Given the description of an element on the screen output the (x, y) to click on. 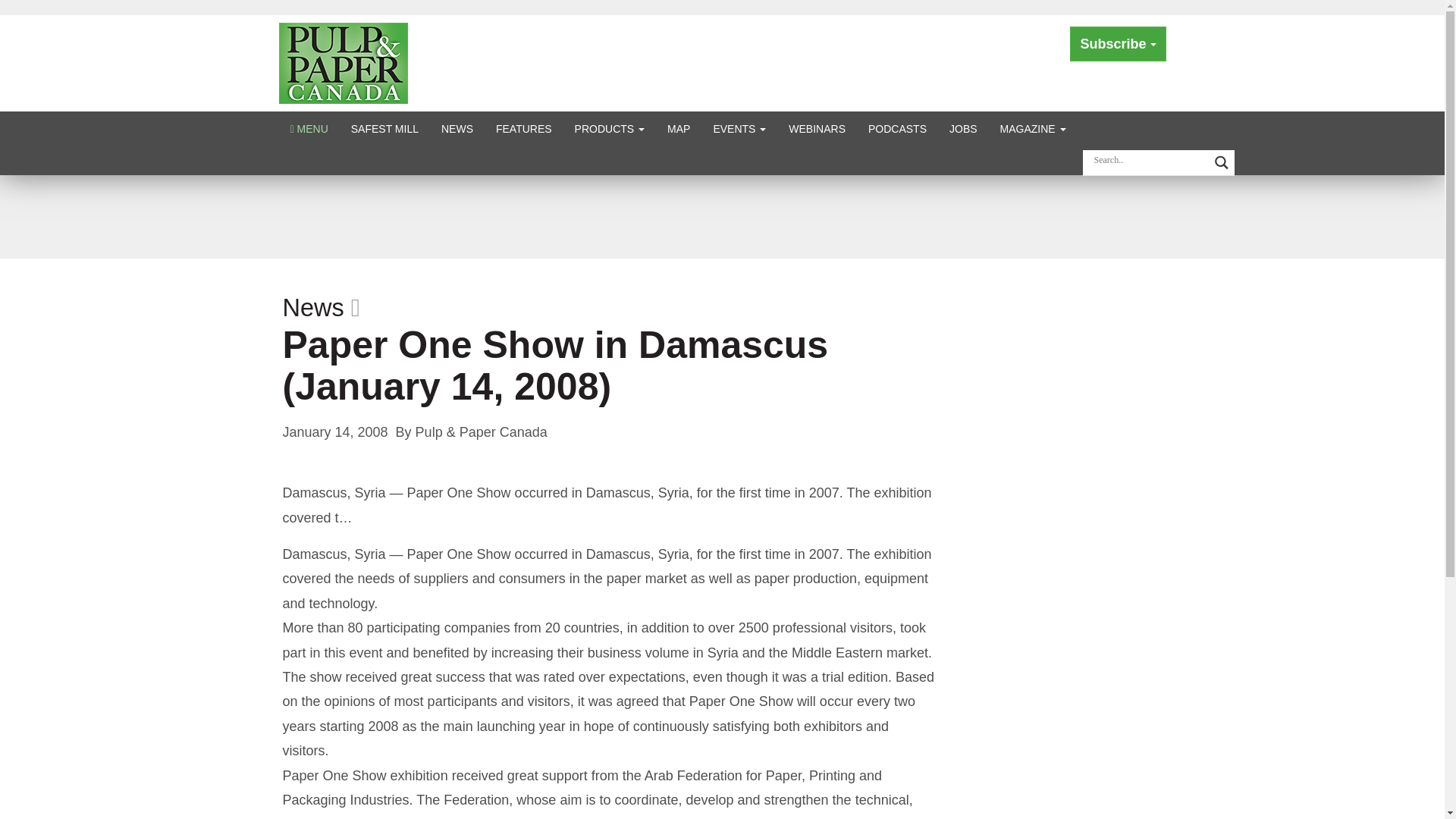
Subscribe (1118, 43)
NEWS (456, 128)
FEATURES (523, 128)
WEBINARS (817, 128)
3rd party ad content (721, 215)
SAFEST MILL (384, 128)
PODCASTS (897, 128)
Click to show site navigation (309, 128)
EVENTS (739, 128)
MENU (309, 128)
